Given the description of an element on the screen output the (x, y) to click on. 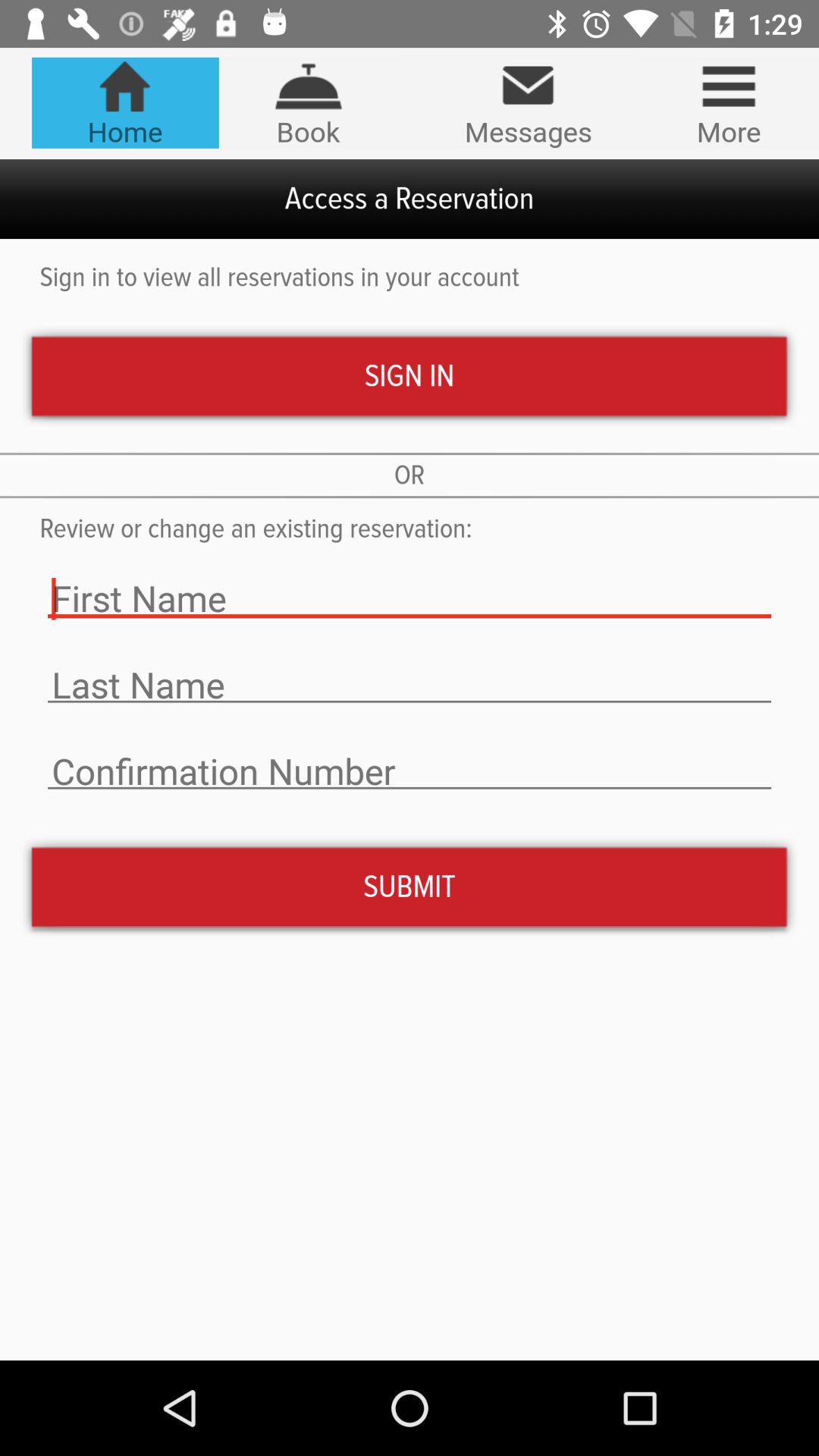
turn on the icon to the right of book item (528, 103)
